Given the description of an element on the screen output the (x, y) to click on. 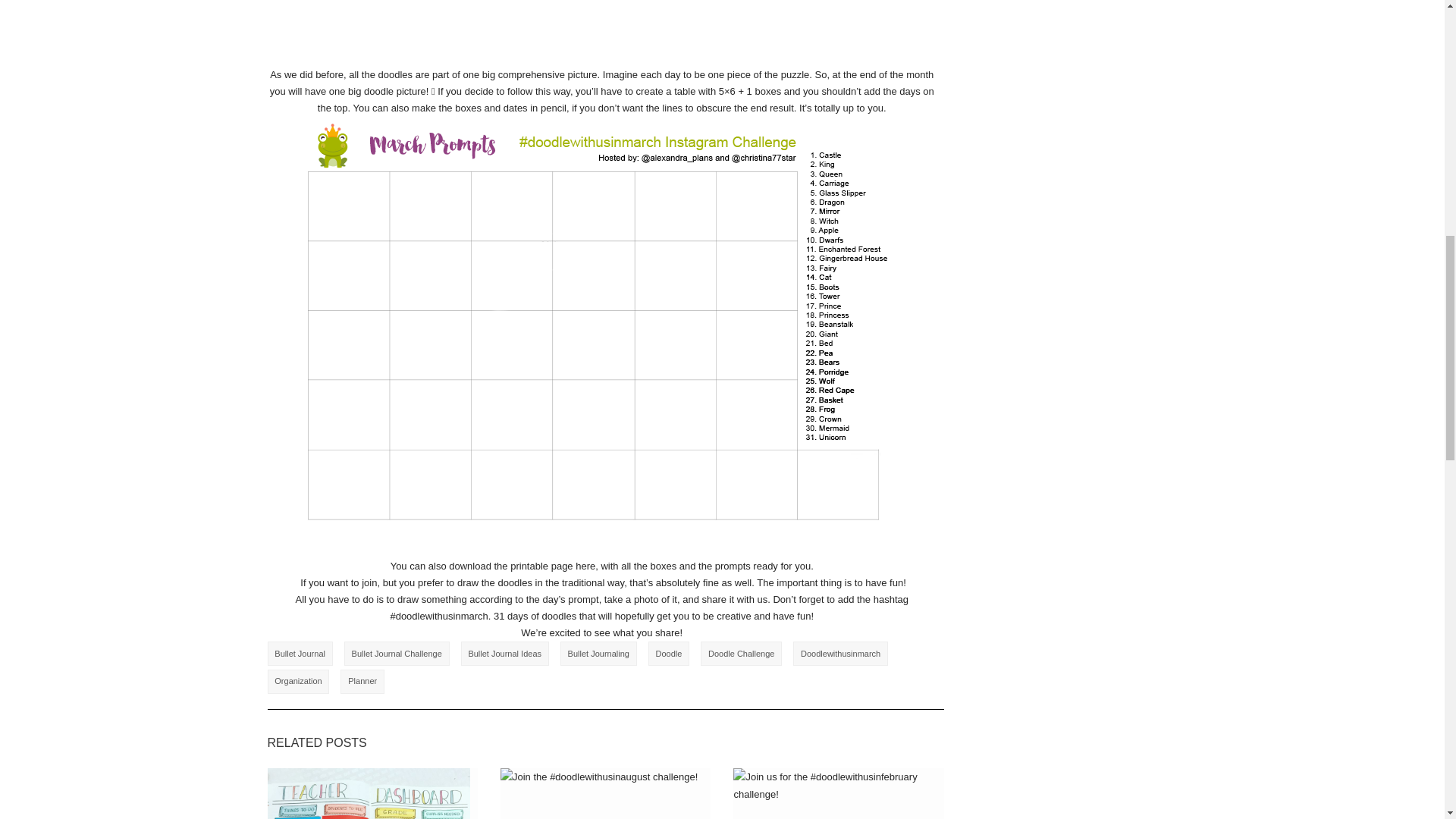
here (585, 565)
Planner (362, 681)
Doodlewithusinmarch (840, 653)
Doodle (667, 653)
Doodle Challenge (740, 653)
Bullet Journal Ideas (504, 653)
Bullet Journaling (598, 653)
Bullet Journal (298, 653)
Organization (297, 681)
Bullet Journal Challenge (396, 653)
